Given the description of an element on the screen output the (x, y) to click on. 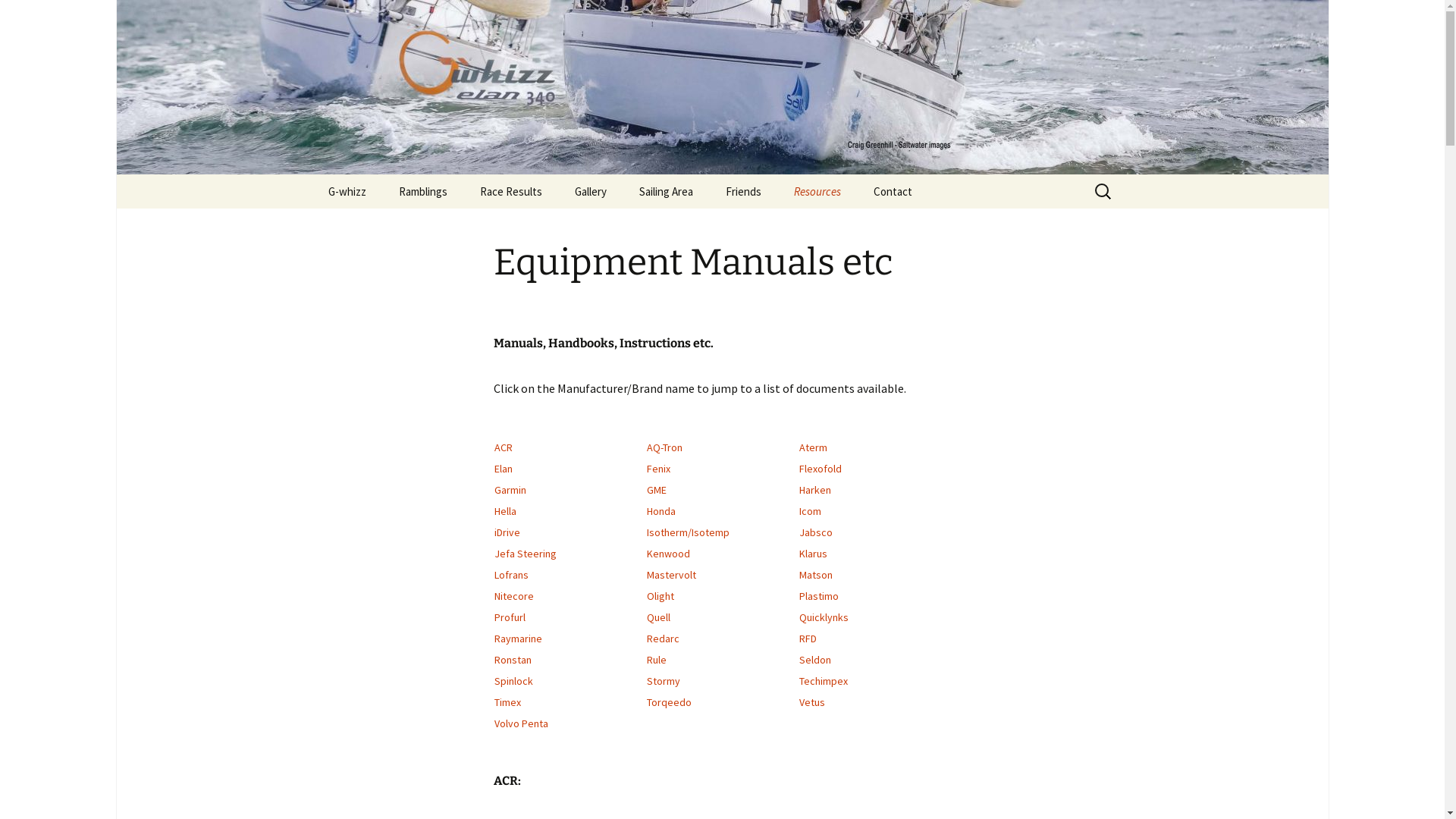
Kenwood Element type: text (668, 553)
Gallery Element type: text (590, 191)
Aterm Element type: text (813, 447)
Mastervolt Element type: text (671, 574)
Garmin Element type: text (510, 489)
G-whizz Elan 340
Elan 340 sail boat Element type: text (721, 87)
Stormy Element type: text (663, 680)
Botany Bay/Port Hacking Element type: text (699, 225)
Plastimo Element type: text (818, 595)
Quicklynks Element type: text (823, 617)
iDrive Element type: text (507, 532)
Volvo Penta Element type: text (521, 723)
ACR Element type: text (503, 447)
Contact Element type: text (892, 191)
Jefa Steering Element type: text (525, 553)
Seldon Element type: text (815, 659)
Search Element type: text (18, 16)
Profurl Element type: text (509, 617)
Friends Element type: text (742, 191)
Elan Element type: text (503, 468)
Ramblings Element type: text (422, 191)
Harken Element type: text (815, 489)
Race Results Element type: text (510, 191)
Photos galleries Element type: text (635, 225)
Tips, Tricks, Traps and Ideas Element type: text (853, 231)
Isotherm/Isotemp Element type: text (687, 532)
Icom Element type: text (810, 510)
Jabsco Element type: text (815, 532)
Nitecore Element type: text (513, 595)
Lofrans Element type: text (511, 574)
Resources Element type: text (816, 191)
RFD Element type: text (807, 638)
Fenix Element type: text (658, 468)
Sailing Area Element type: text (665, 191)
Techimpex Element type: text (823, 680)
Skip to content Element type: text (312, 173)
G-whizz Element type: text (346, 191)
Raymarine Element type: text (518, 638)
Klarus Element type: text (813, 553)
Matson Element type: text (815, 574)
Olight Element type: text (660, 595)
Spinlock Element type: text (513, 680)
Quell Element type: text (658, 617)
Rule Element type: text (656, 659)
Ronstan Element type: text (512, 659)
Redarc Element type: text (662, 638)
Hella Element type: text (505, 510)
Torqeedo Element type: text (668, 702)
Flexofold Element type: text (820, 468)
Honda Element type: text (660, 510)
Vetus Element type: text (812, 702)
Timex Element type: text (507, 702)
GME Element type: text (656, 489)
AQ-Tron Element type: text (664, 447)
